Given the description of an element on the screen output the (x, y) to click on. 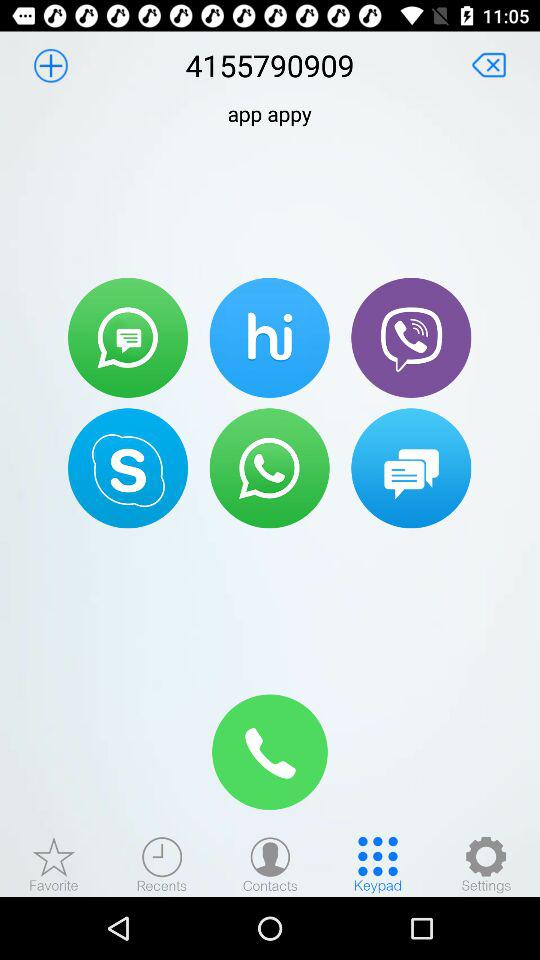
settings (485, 864)
